Given the description of an element on the screen output the (x, y) to click on. 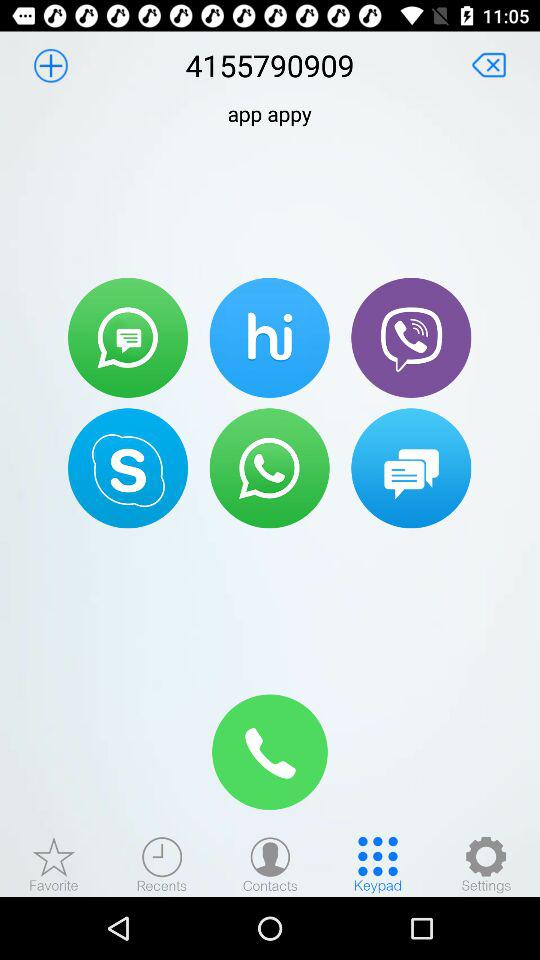
settings (485, 864)
